Given the description of an element on the screen output the (x, y) to click on. 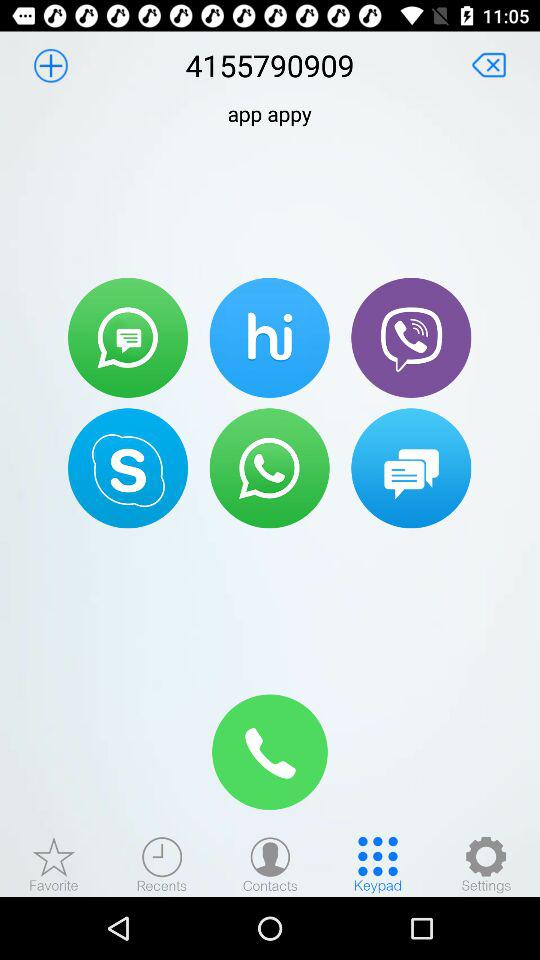
settings (485, 864)
